Given the description of an element on the screen output the (x, y) to click on. 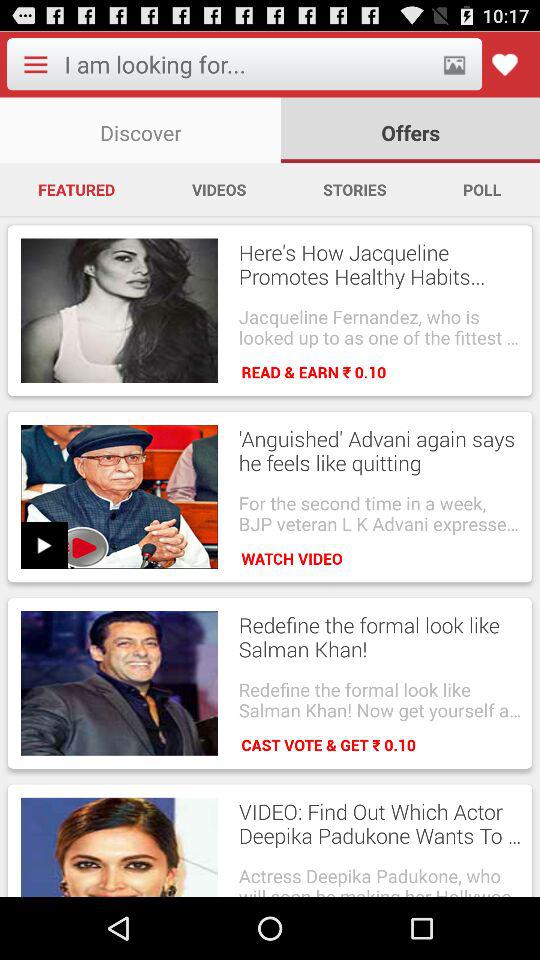
picture icon (453, 63)
